Given the description of an element on the screen output the (x, y) to click on. 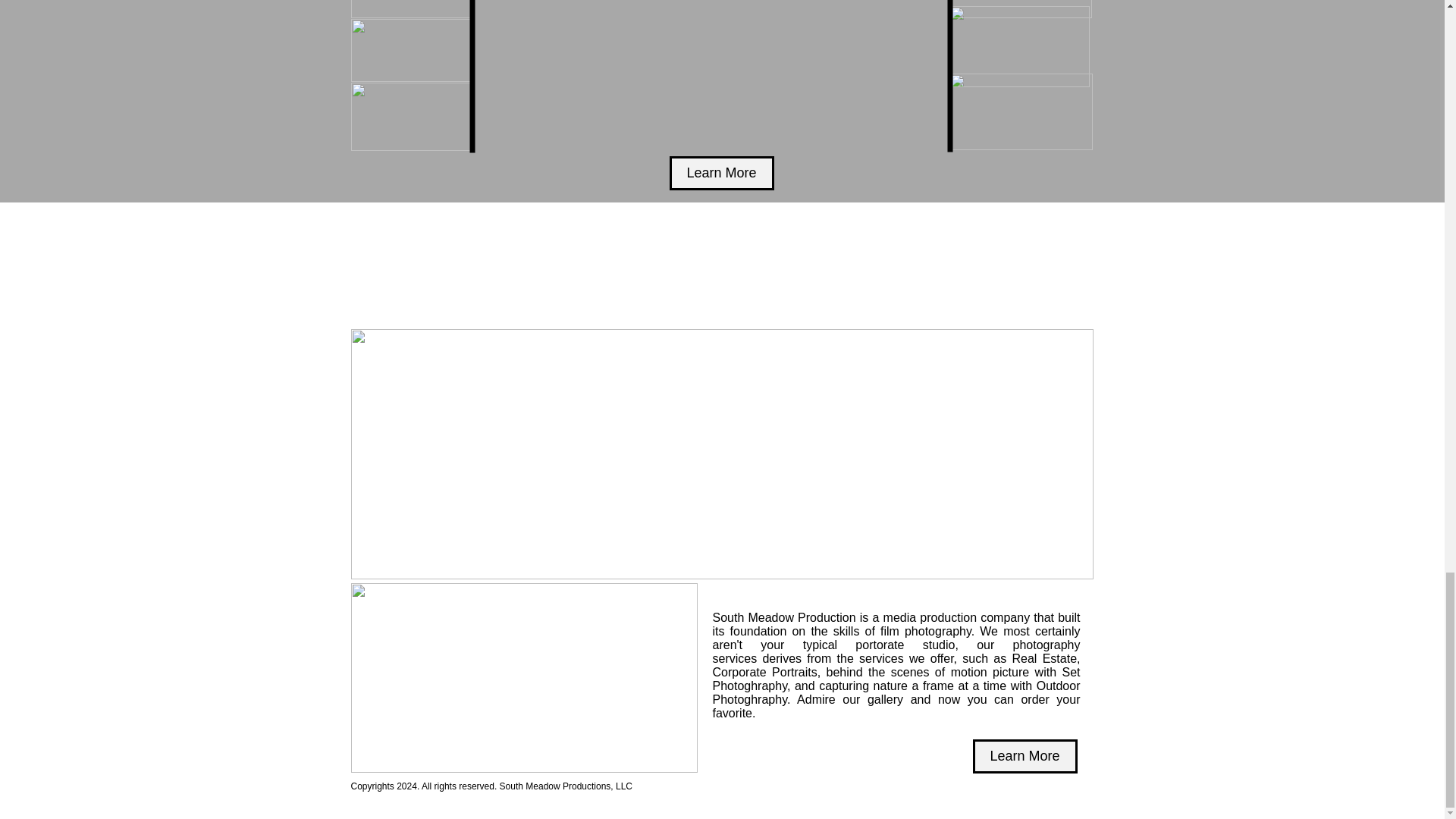
External Vimeo (715, 76)
Learn More (1024, 756)
Learn More (720, 173)
